Given the description of an element on the screen output the (x, y) to click on. 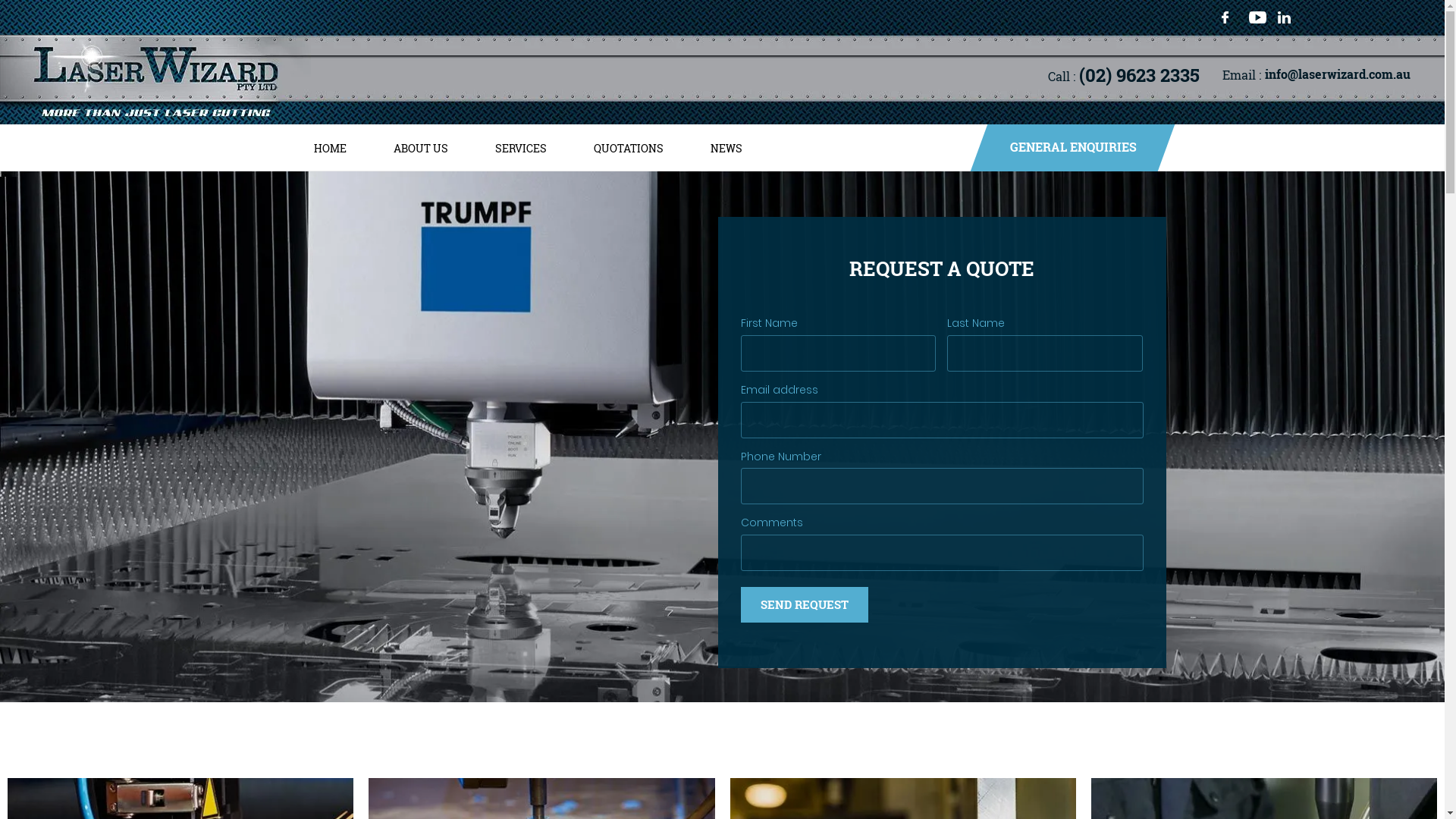
linkedin Element type: text (1283, 17)
NEWS Element type: text (726, 147)
HOME Element type: text (329, 147)
youtube Element type: text (1257, 17)
SERVICES Element type: text (520, 147)
Laser Wizard PTY LTD Element type: hover (155, 78)
Call : (02) 9623 2335 Element type: text (1123, 75)
facebook Element type: text (1230, 17)
Email :info@laserwizard.com.au Element type: text (1316, 74)
QUOTATIONS Element type: text (628, 147)
ABOUT US Element type: text (420, 147)
Send Request Element type: text (803, 604)
GENERAL ENQUIRIES Element type: text (1063, 147)
